Given the description of an element on the screen output the (x, y) to click on. 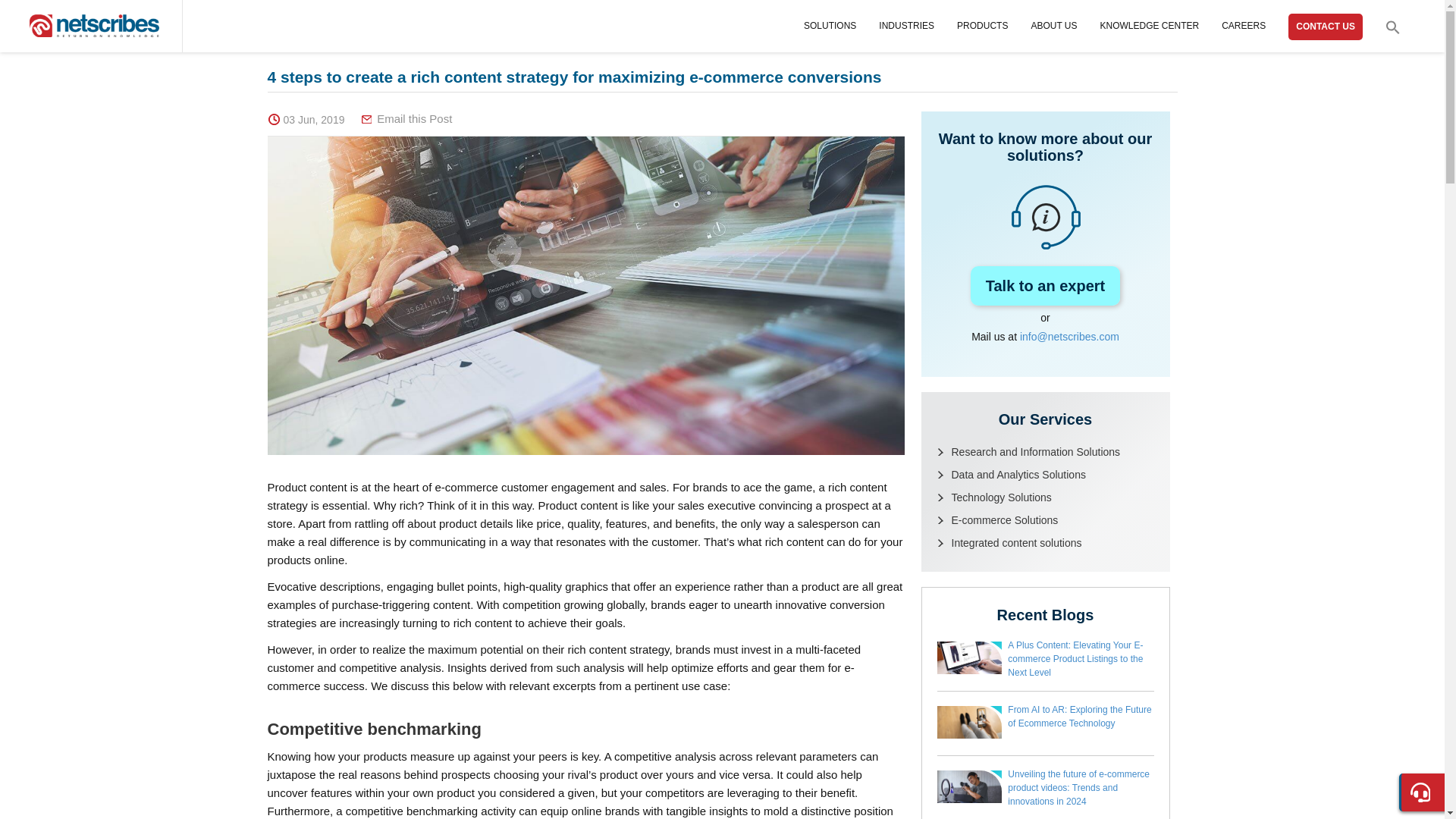
INDUSTRIES (906, 26)
From AI to AR: Exploring the Future of Ecommerce Technology (1079, 716)
From AI to AR: Exploring the Future of Ecommerce Technology (970, 735)
PRODUCTS (981, 26)
SOLUTIONS (829, 26)
